Given the description of an element on the screen output the (x, y) to click on. 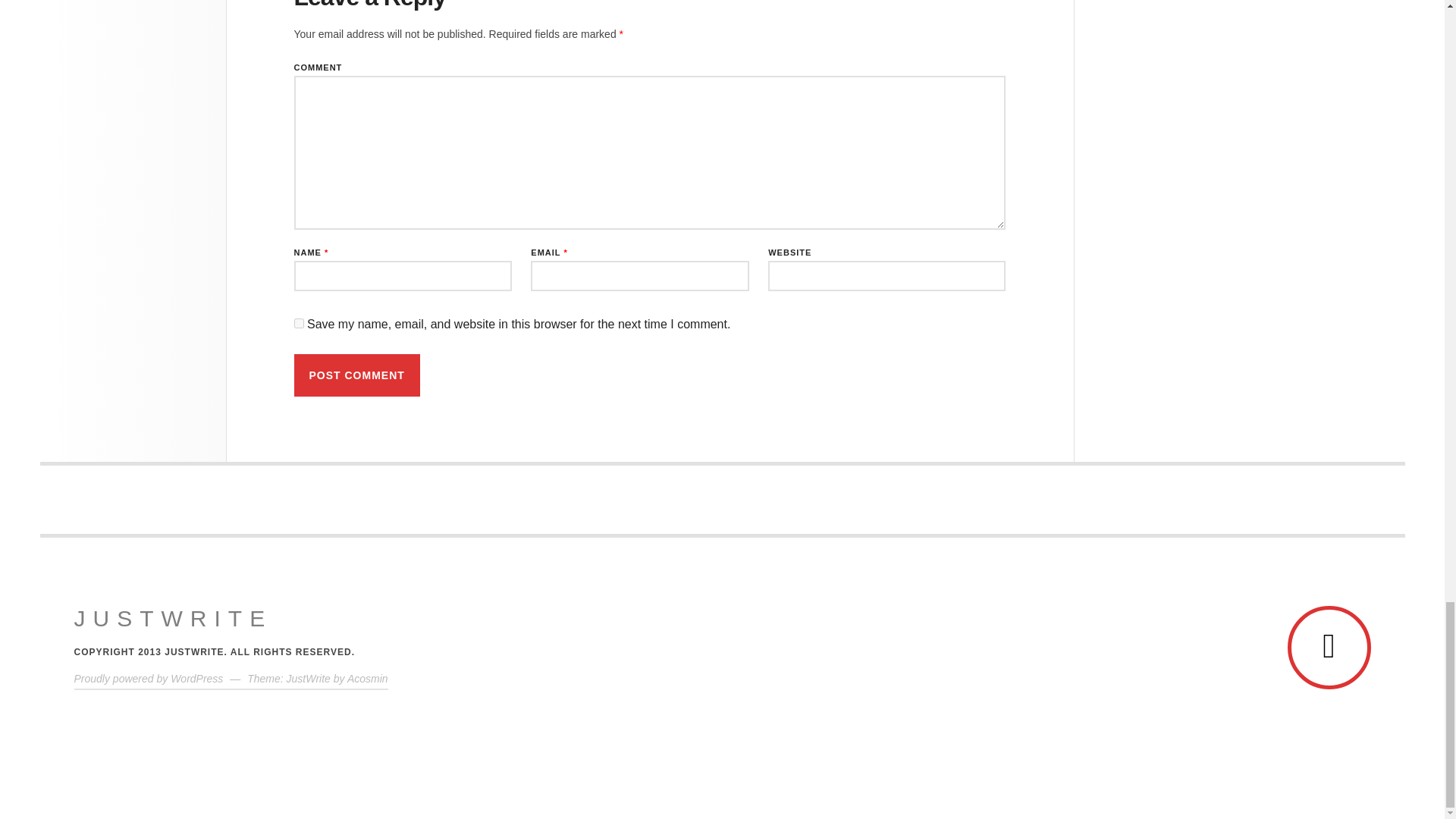
yes (299, 323)
Post Comment (357, 374)
